Given the description of an element on the screen output the (x, y) to click on. 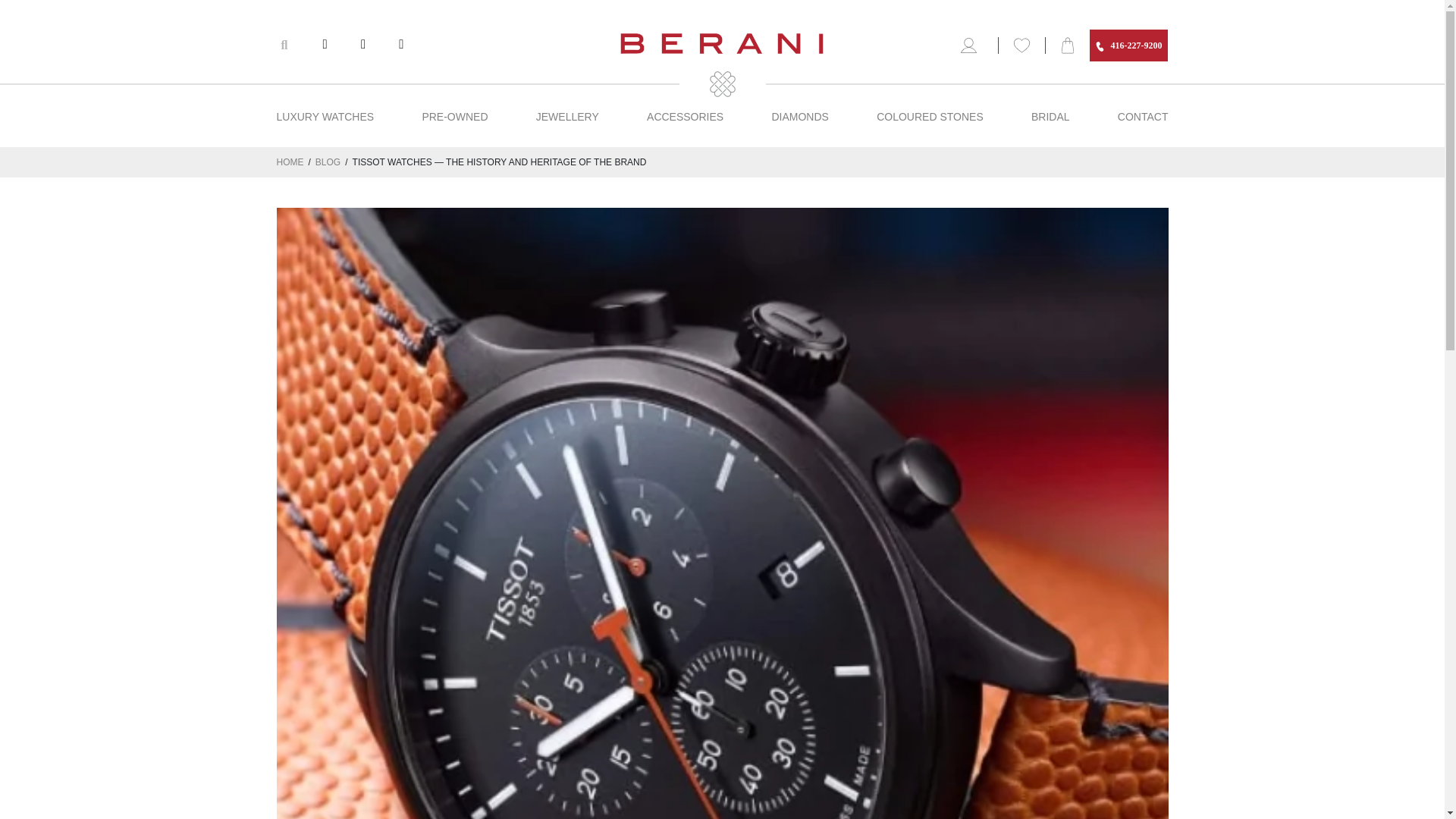
Menu Icons (971, 45)
Home (289, 162)
Menu Icons (1021, 45)
LUXURY WATCHES (325, 116)
JEWELLERY (566, 116)
PRE-OWNED (454, 116)
416-227-9200 (1128, 45)
